Given the description of an element on the screen output the (x, y) to click on. 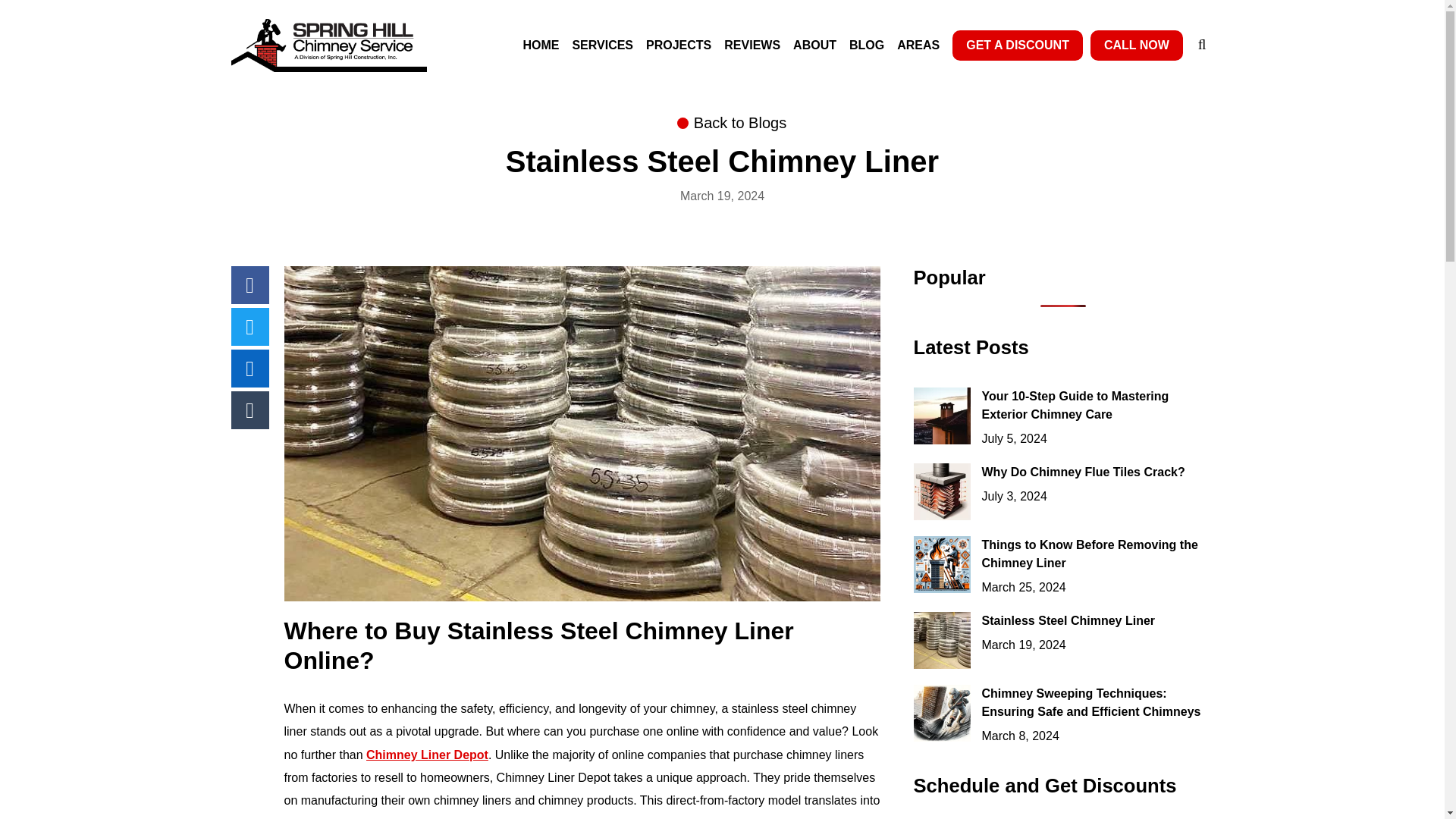
Back to Blogs (740, 122)
PROJECTS (678, 45)
GET A DISCOUNT (1017, 45)
CALL NOW (1136, 45)
SERVICES (602, 45)
BLOG (865, 45)
Chimney Liner Depot (426, 754)
ABOUT (814, 45)
REVIEWS (751, 45)
